Given the description of an element on the screen output the (x, y) to click on. 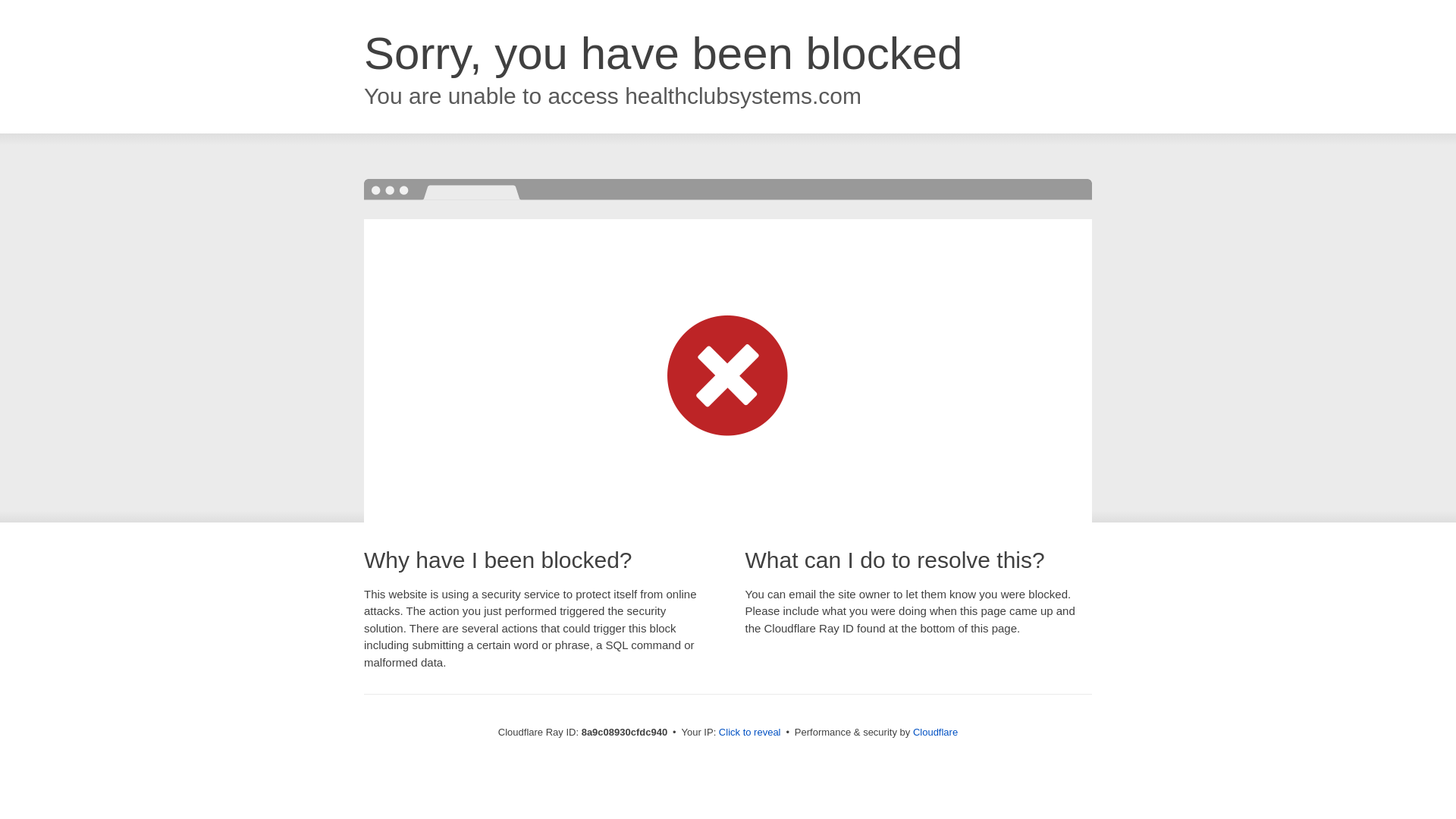
Click to reveal (749, 732)
Cloudflare (935, 731)
